Given the description of an element on the screen output the (x, y) to click on. 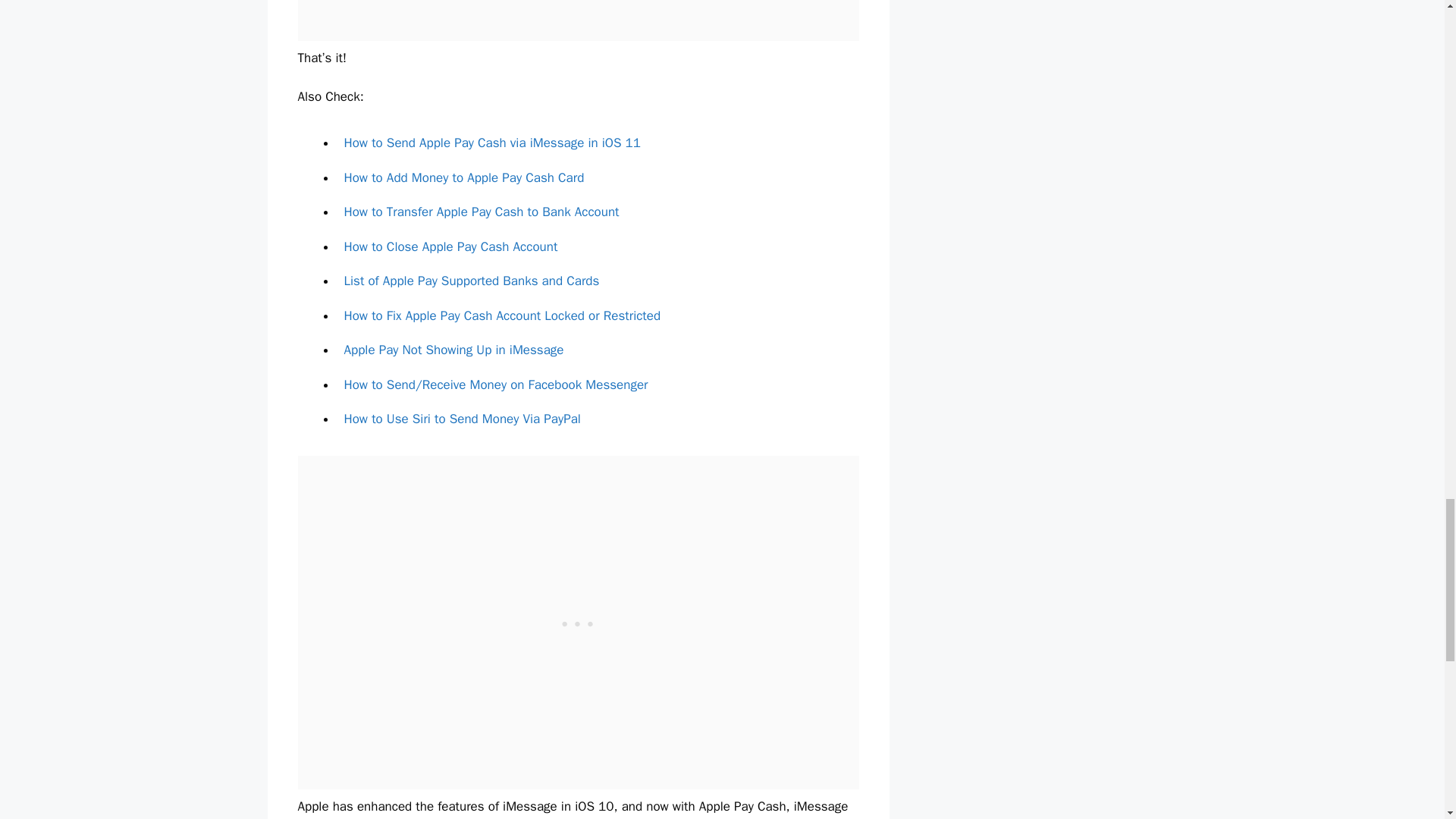
How to Fix Apple Pay Cash Account Locked or Restricted (502, 315)
How to Send Apple Pay Cash via iMessage in iOS 11 (492, 142)
How to Add Money to Apple Pay Cash Card (464, 177)
How to Use Siri to Send Money Via PayPal (461, 418)
List of Apple Pay Supported Banks and Cards (471, 280)
How to Close Apple Pay Cash Account (450, 246)
Apple Pay Not Showing Up in iMessage (453, 349)
How to Transfer Apple Pay Cash to Bank Account (481, 211)
